Given the description of an element on the screen output the (x, y) to click on. 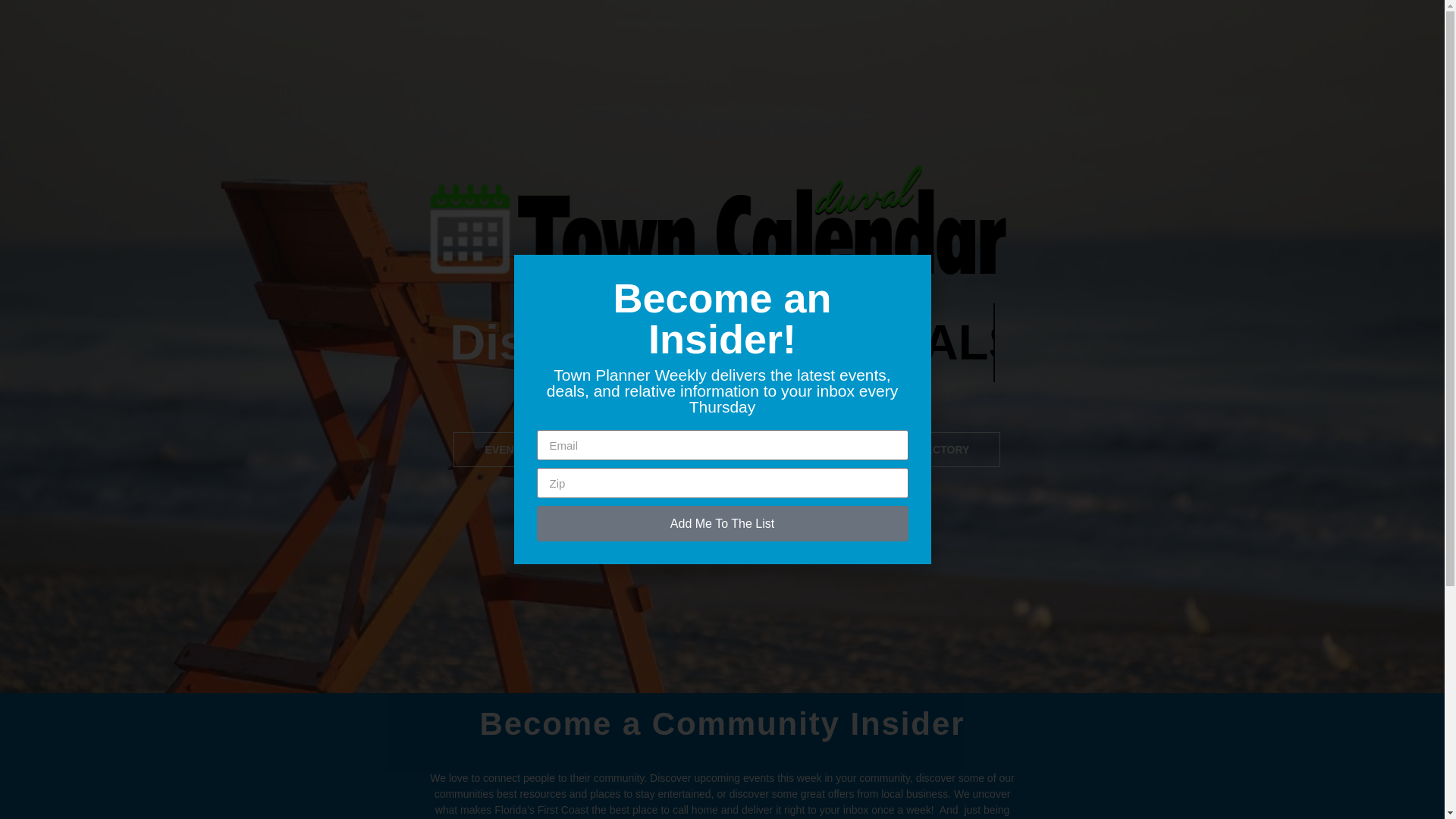
Add Me To The List (722, 523)
DIRECTORY (938, 449)
EVENTS (504, 449)
